Given the description of an element on the screen output the (x, y) to click on. 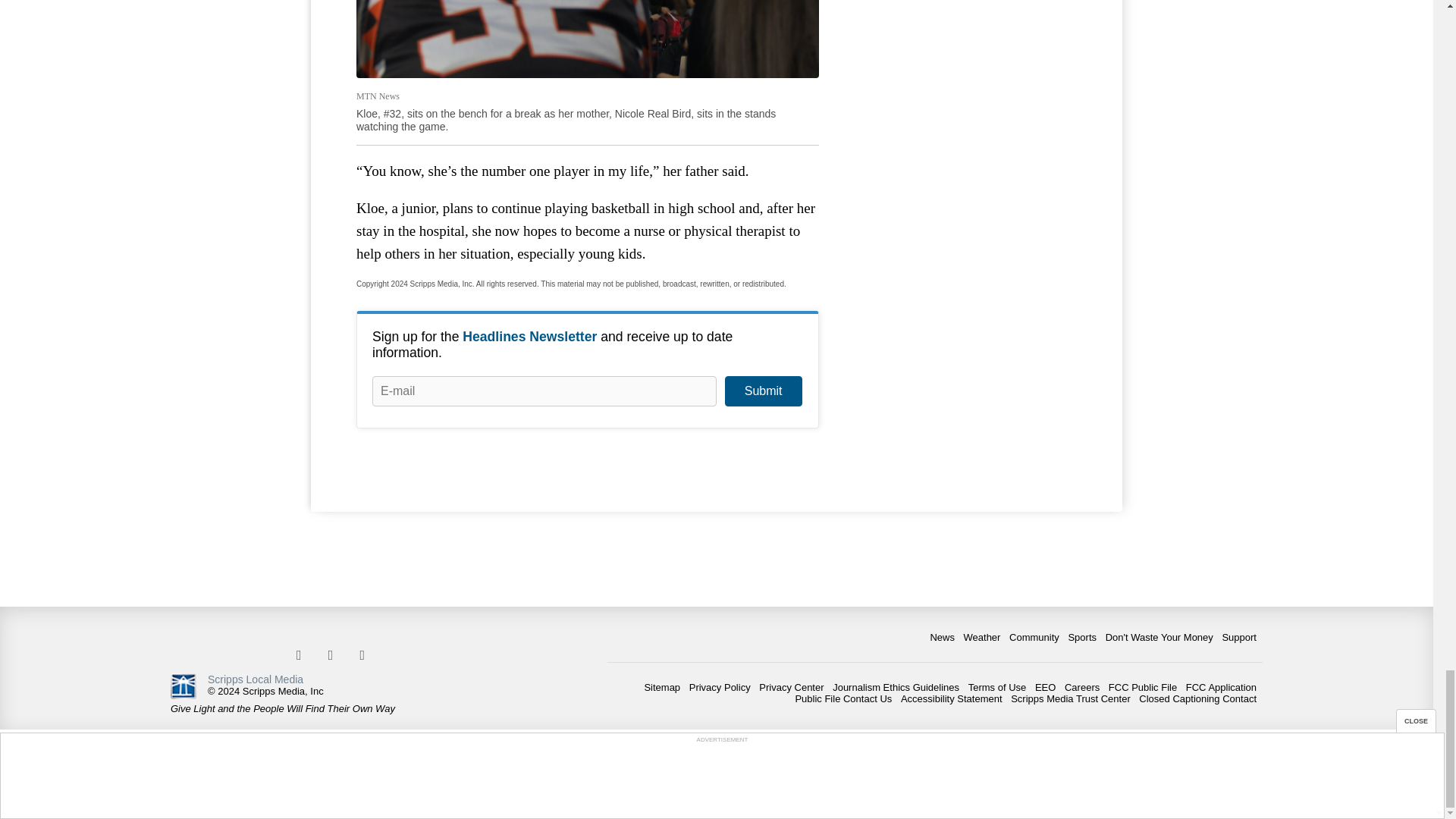
Submit (763, 390)
